Given the description of an element on the screen output the (x, y) to click on. 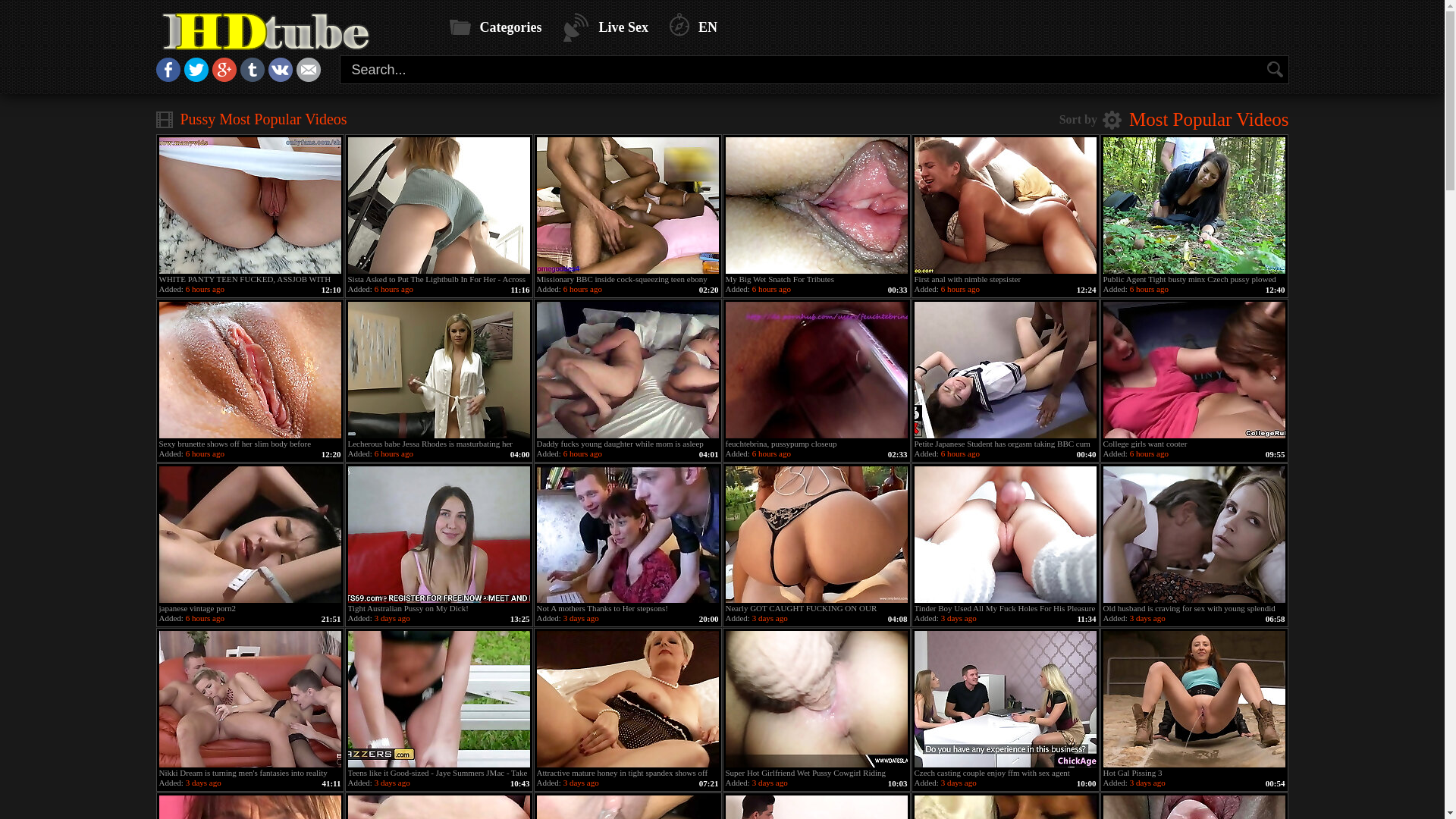
My Big Wet Snatch For Tributes Element type: hover (815, 205)
Teens like it Good-sized - Jaye Summers JMac - Take Me Home Element type: hover (438, 698)
Share on VK Element type: hover (280, 77)
Czech casting couple enjoy ffm with sex agent Element type: hover (1005, 698)
EN Element type: text (693, 26)
Live Sex Element type: text (605, 26)
Daddy fucks young daughter while mom is asleep Element type: hover (627, 369)
japanese vintage porn2 Element type: hover (250, 534)
Nearly GOT CAUGHT FUCKING ON OUR ROOFTOP! - SAMUELANDSIENNA Element type: hover (815, 534)
Old husband is craving for sex with young splendid wife Element type: hover (1193, 534)
College girls want cooter Element type: hover (1193, 369)
Eager to eat pussy? Check out my beautiful pussy on 1tubehd Element type: text (291, 31)
Email Element type: hover (307, 77)
Tweet Element type: hover (195, 77)
feuchtebrina, pussypump closeup Element type: hover (815, 369)
Public Agent Tight busty minx Czech pussy plowed doggystyle Element type: hover (1193, 205)
Petite Japanese Student has orgasm taking BBC cum in pussy! Element type: hover (1005, 369)
Post to Tumblr Element type: hover (251, 77)
First anal with nimble stepsister Element type: hover (1005, 205)
Tight Australian Pussy on My Dick! Element type: hover (438, 534)
Categories Element type: text (494, 26)
Share on Google+ Element type: hover (224, 77)
Share on Facebook Element type: hover (168, 77)
Super Hot Girlfriend Wet Pussy Cowgirl Riding Element type: hover (815, 698)
Sista Asked to Put The Lightbulb In For Her - Across Hub Element type: hover (438, 205)
Not A mothers Thanks to Her stepsons! Element type: hover (627, 534)
Hot Gal Pissing 3 Element type: hover (1193, 698)
